Given the description of an element on the screen output the (x, y) to click on. 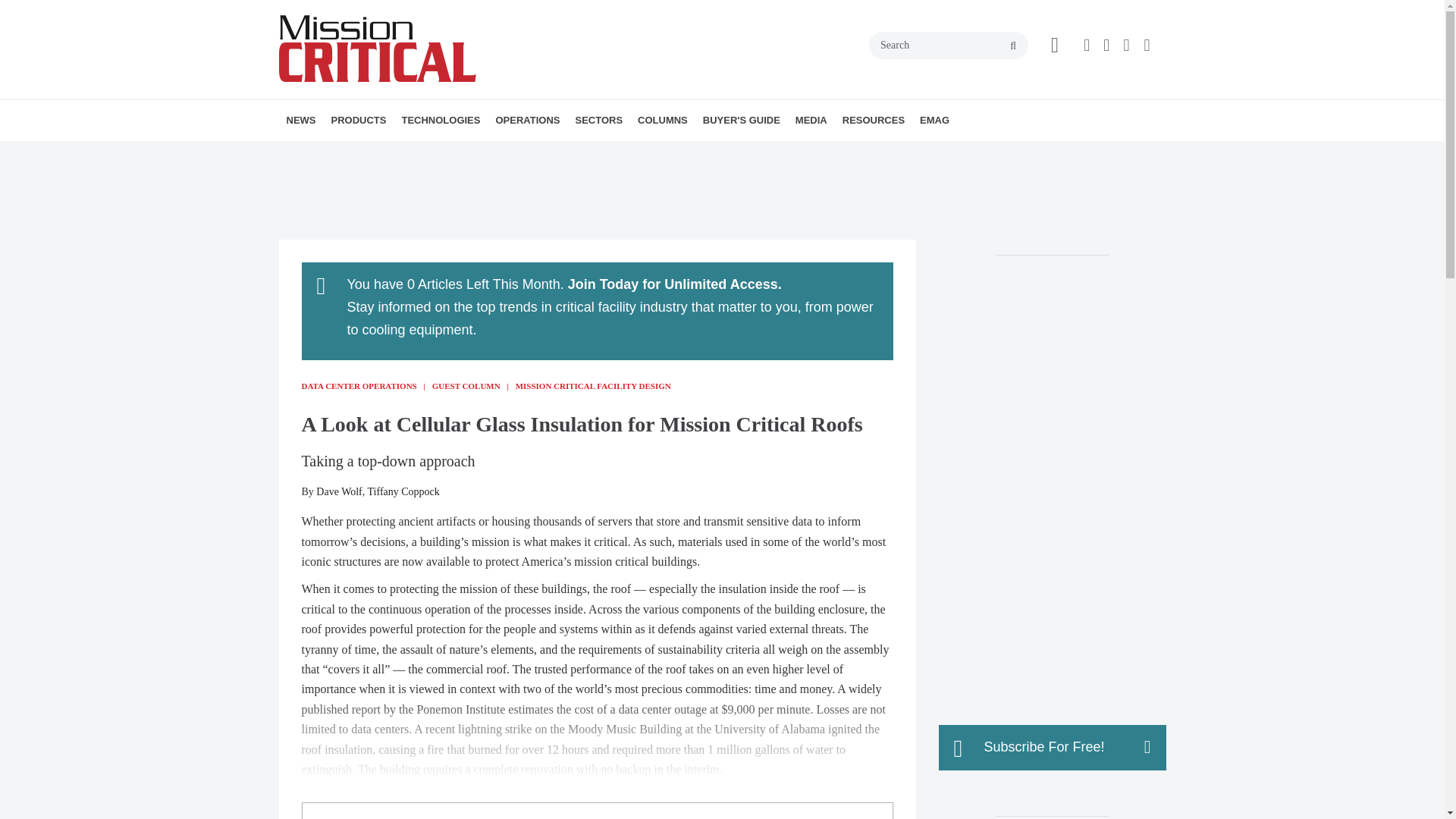
BFSI (662, 153)
PRODUCTS (358, 119)
CLOUD COMPUTING (516, 153)
EDGE COMPUTING (519, 153)
INDUSTRY 4.0 (669, 153)
TOP TIER PRODUCT AWARDS (424, 153)
NEW PRODUCTS (417, 153)
TECHNOLOGIES (440, 119)
Search (948, 44)
COOLING (522, 153)
INDUSTRY NEWS (373, 153)
SAFETY (595, 153)
Search (948, 44)
COLOCATION (609, 153)
SITE SELECTION (582, 153)
